Given the description of an element on the screen output the (x, y) to click on. 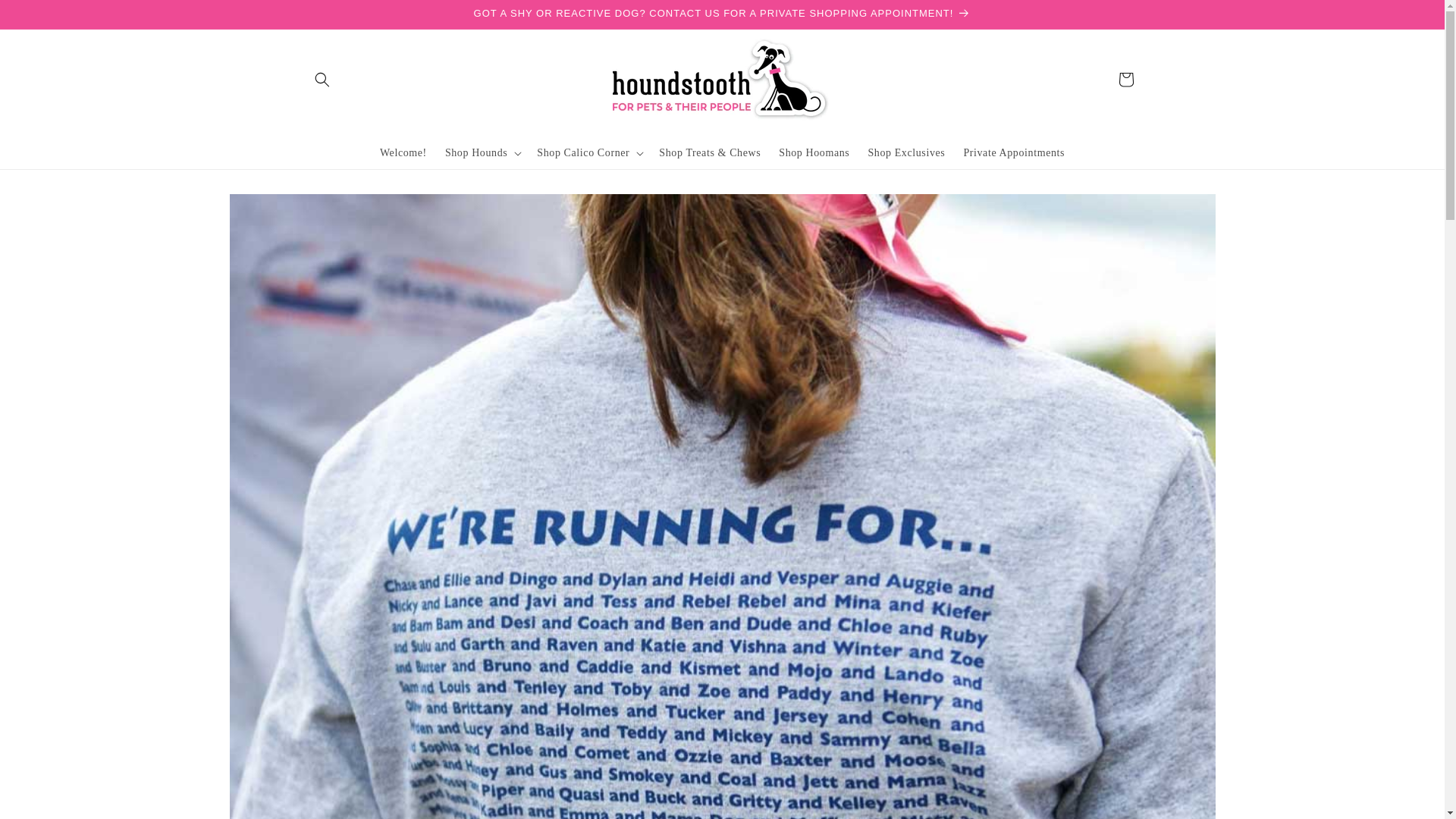
Skip to content (45, 17)
Welcome! (403, 152)
